Given the description of an element on the screen output the (x, y) to click on. 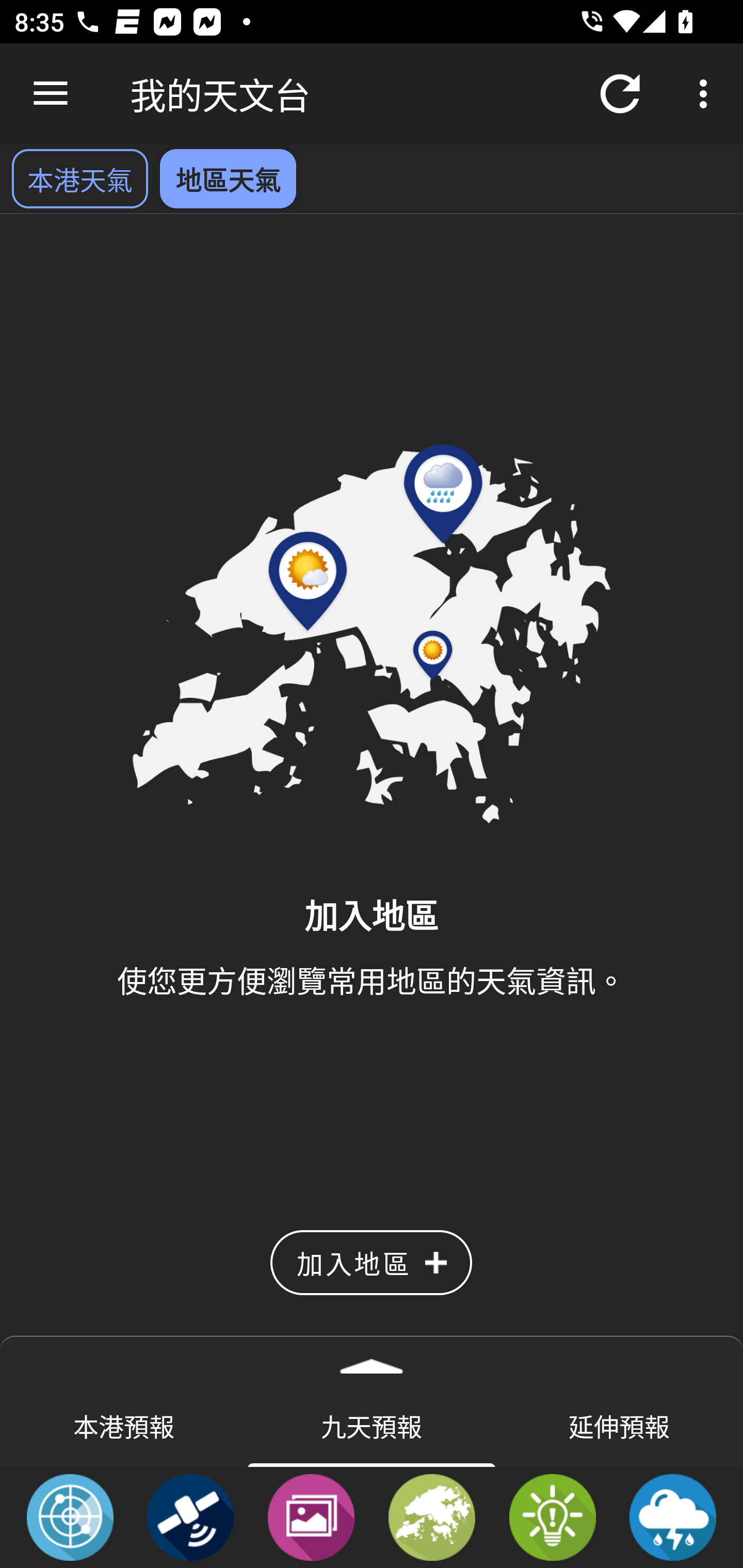
向上瀏覽 (50, 93)
重新整理 (619, 93)
更多選項 (706, 93)
本港天氣 選擇 本港天氣 (79, 178)
地區天氣 已選擇 地區天氣 (227, 178)
加入地區 (370, 1262)
展開 (371, 1358)
本港預報 (123, 1424)
延伸預報 (619, 1424)
雷達圖像 (69, 1516)
衛星圖像 (190, 1516)
天氣照片 (310, 1516)
分區天氣 (431, 1516)
天氣提示 (551, 1516)
定點降雨及閃電預報 (672, 1516)
